Given the description of an element on the screen output the (x, y) to click on. 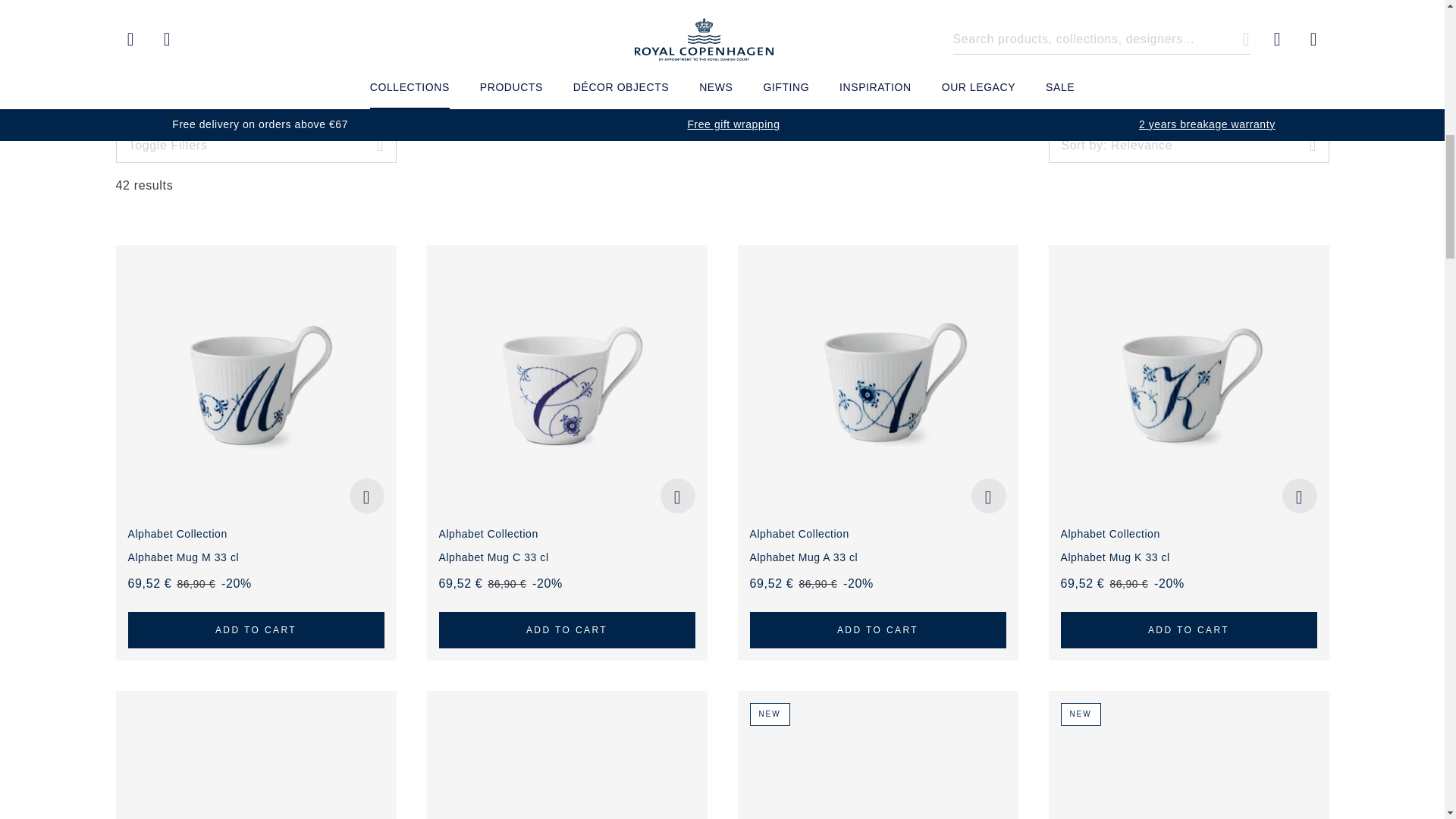
Add to cart (256, 629)
Add to cart (1187, 144)
Add to cart (877, 629)
Add to cart (1187, 629)
